Given the description of an element on the screen output the (x, y) to click on. 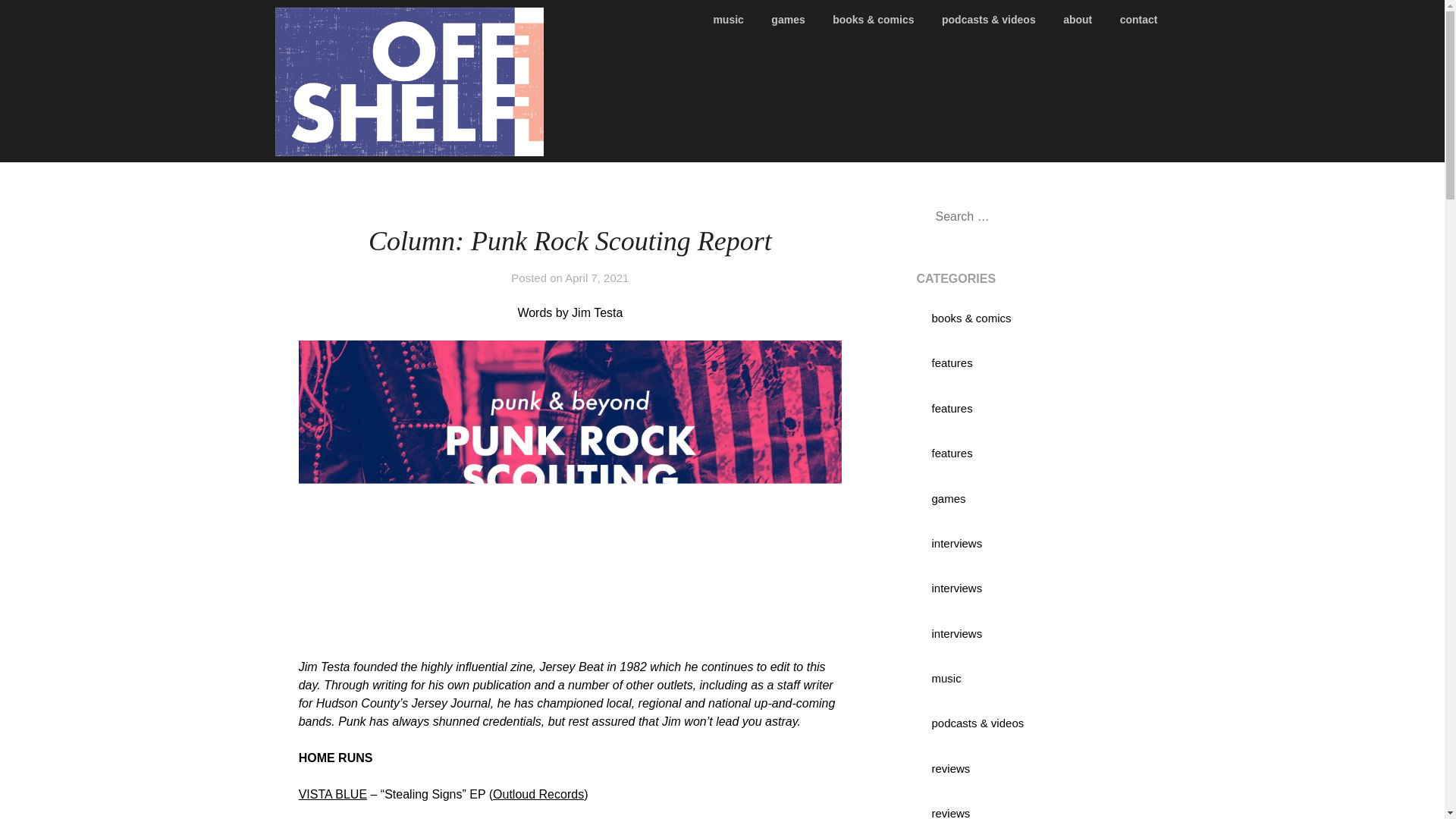
music (945, 677)
VISTA BLUE (332, 793)
contact (1139, 20)
games (948, 498)
features (951, 362)
Outloud Records (538, 793)
April 7, 2021 (596, 277)
games (787, 20)
about (1077, 20)
Search (38, 22)
features (951, 452)
interviews (956, 587)
features (951, 408)
interviews (956, 543)
interviews (956, 633)
